Given the description of an element on the screen output the (x, y) to click on. 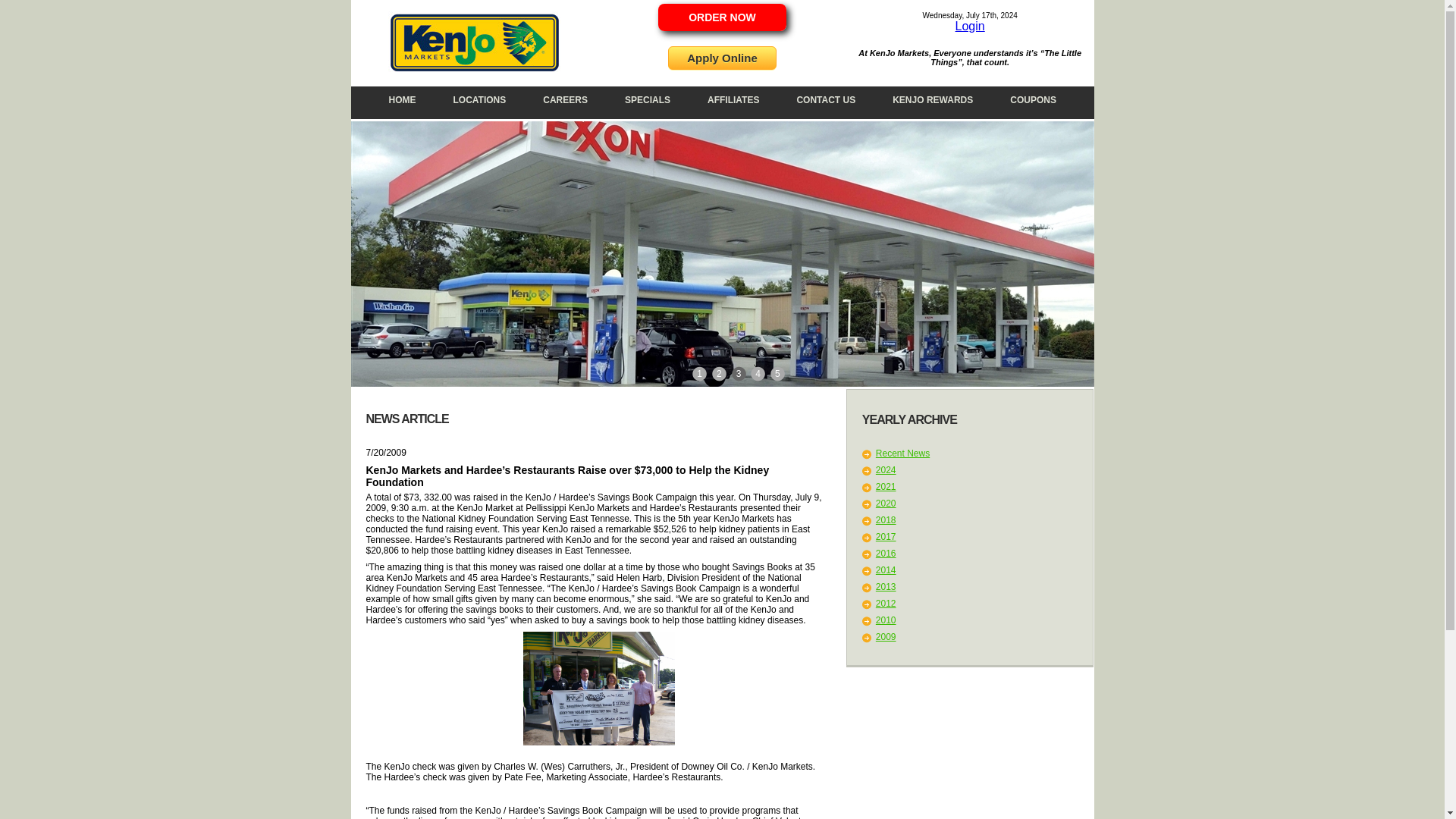
2020 (886, 502)
1 (700, 372)
CAREERS (564, 99)
2024 (886, 470)
2 (719, 372)
2016 (886, 552)
2017 (886, 536)
2010 (886, 620)
Recent News (903, 452)
CONTACT US (825, 99)
AFFILIATES (733, 99)
Login (970, 25)
4 (759, 372)
2013 (886, 586)
2018 (886, 520)
